Given the description of an element on the screen output the (x, y) to click on. 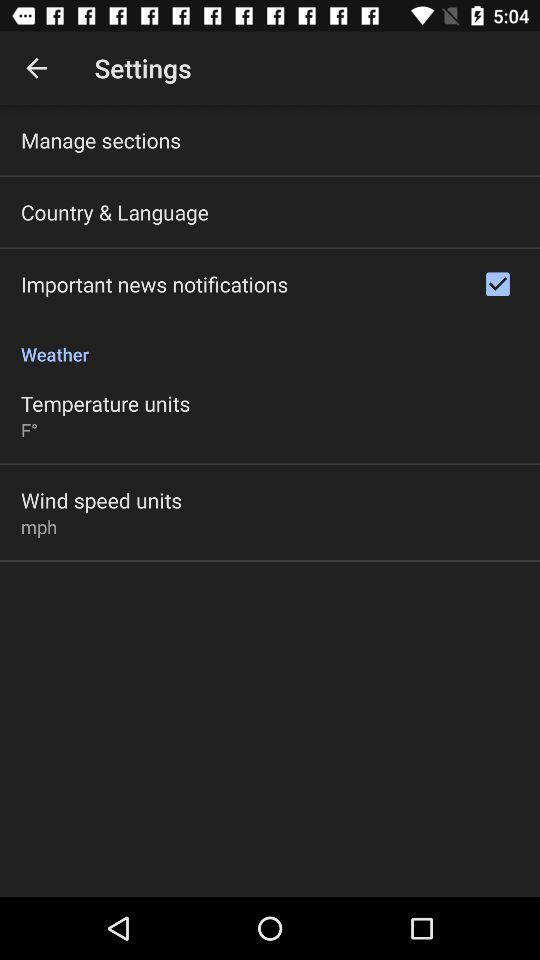
select the item below the temperature units item (29, 429)
